Given the description of an element on the screen output the (x, y) to click on. 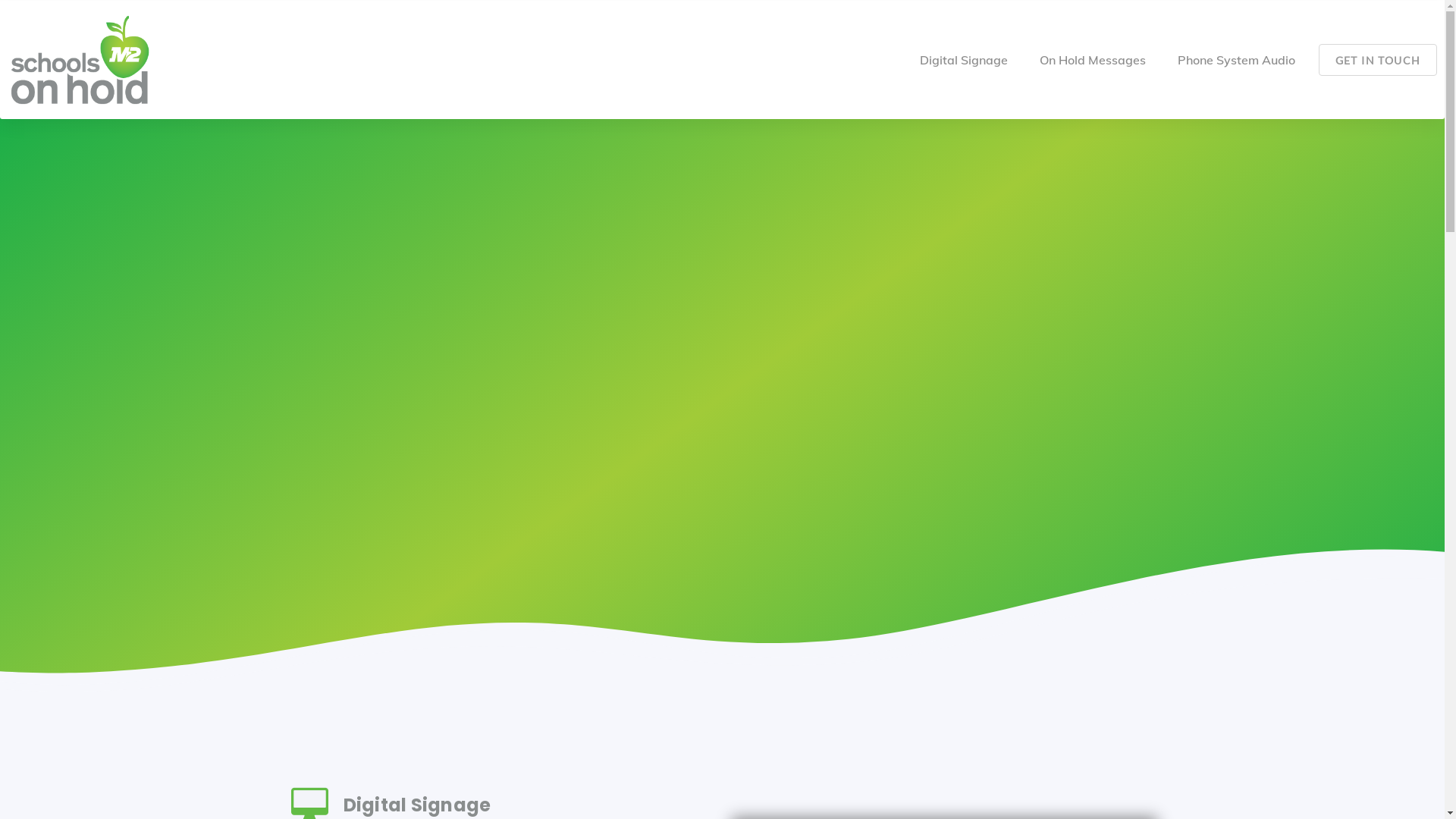
Privacy Policy Element type: text (603, 785)
M2 Technology Element type: text (892, 600)
On Hold Messages Element type: text (1092, 59)
1800 802 822 Element type: text (1117, 677)
onquevision Element type: text (900, 654)
Terms & Conditions Element type: text (507, 785)
CommTrak CRM Element type: text (888, 681)
11a Aldous Place
Booragoon WA 6154 Element type: text (1099, 614)
GET IN TOUCH Element type: text (1377, 59)
Phone System Audio Element type: text (1236, 59)
M2 On Hold Element type: text (899, 627)
Email Us Element type: text (1131, 652)
CREATIVE CANARY Element type: text (1100, 785)
Digital Signage Element type: text (963, 59)
